Given the description of an element on the screen output the (x, y) to click on. 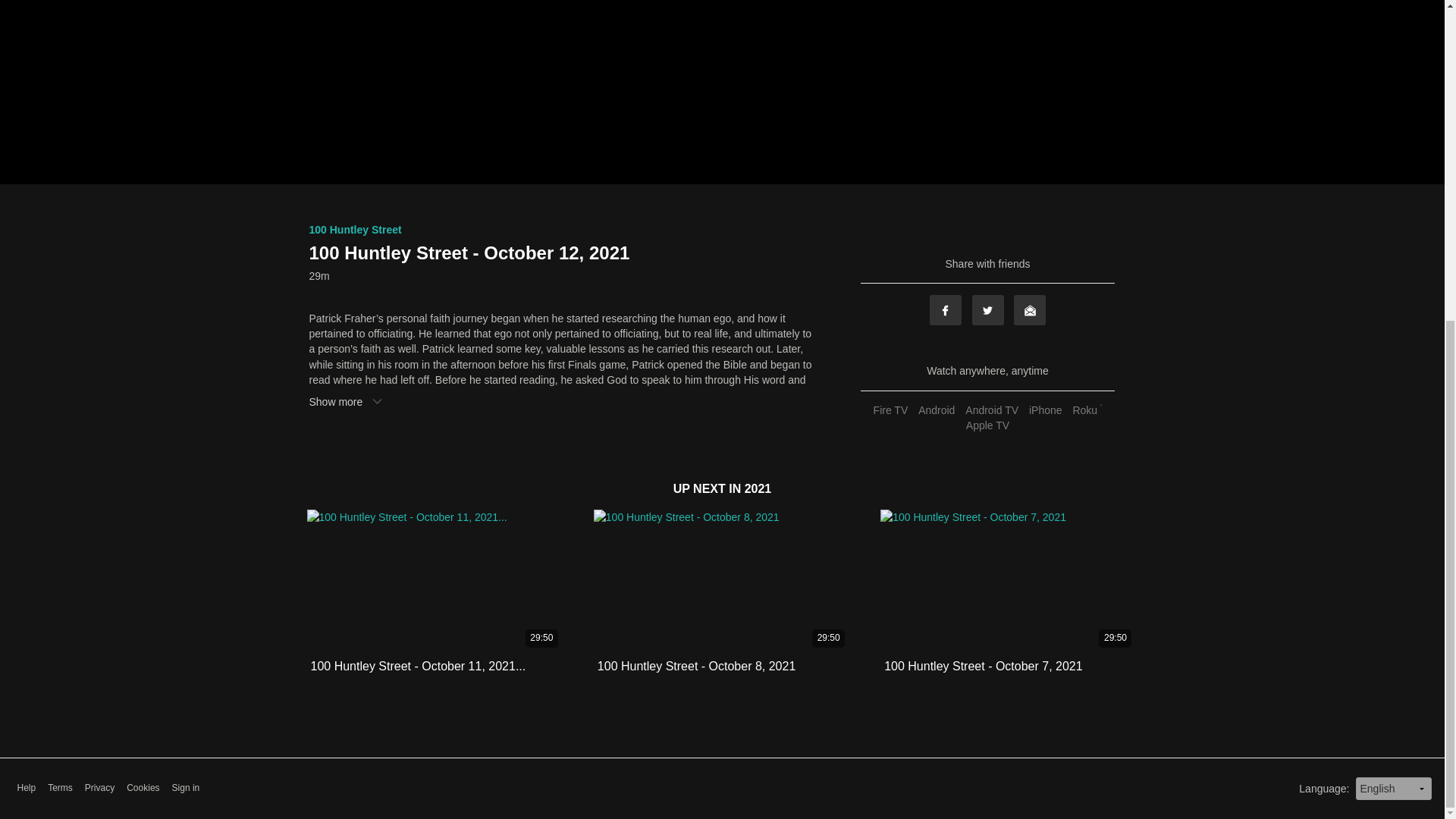
Twitter (988, 309)
Android TV (991, 410)
2021 (757, 488)
29:50 (1008, 580)
Terms (60, 788)
100 Huntley Street - October 8, 2021 (695, 666)
Cookies (142, 788)
Android (936, 410)
100 Huntley Street - October 11, 2021... (418, 666)
Fire TV (890, 410)
Privacy (99, 788)
Facebook (945, 309)
29:50 (434, 580)
100 Huntley Street - October 11, 2021... (418, 666)
Sign in (185, 788)
